Given the description of an element on the screen output the (x, y) to click on. 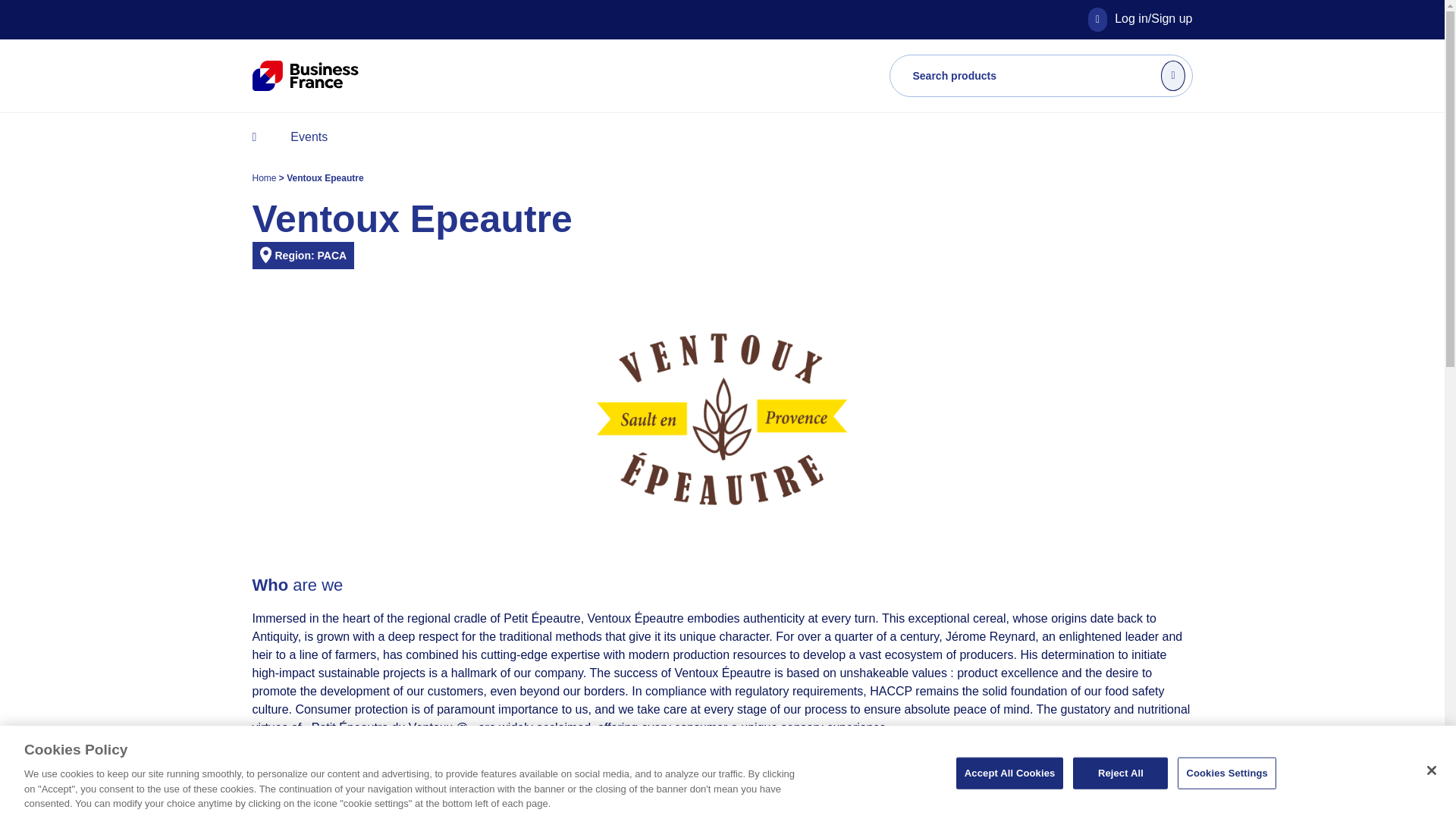
Home (264, 177)
Events (308, 136)
Home (264, 177)
